Given the description of an element on the screen output the (x, y) to click on. 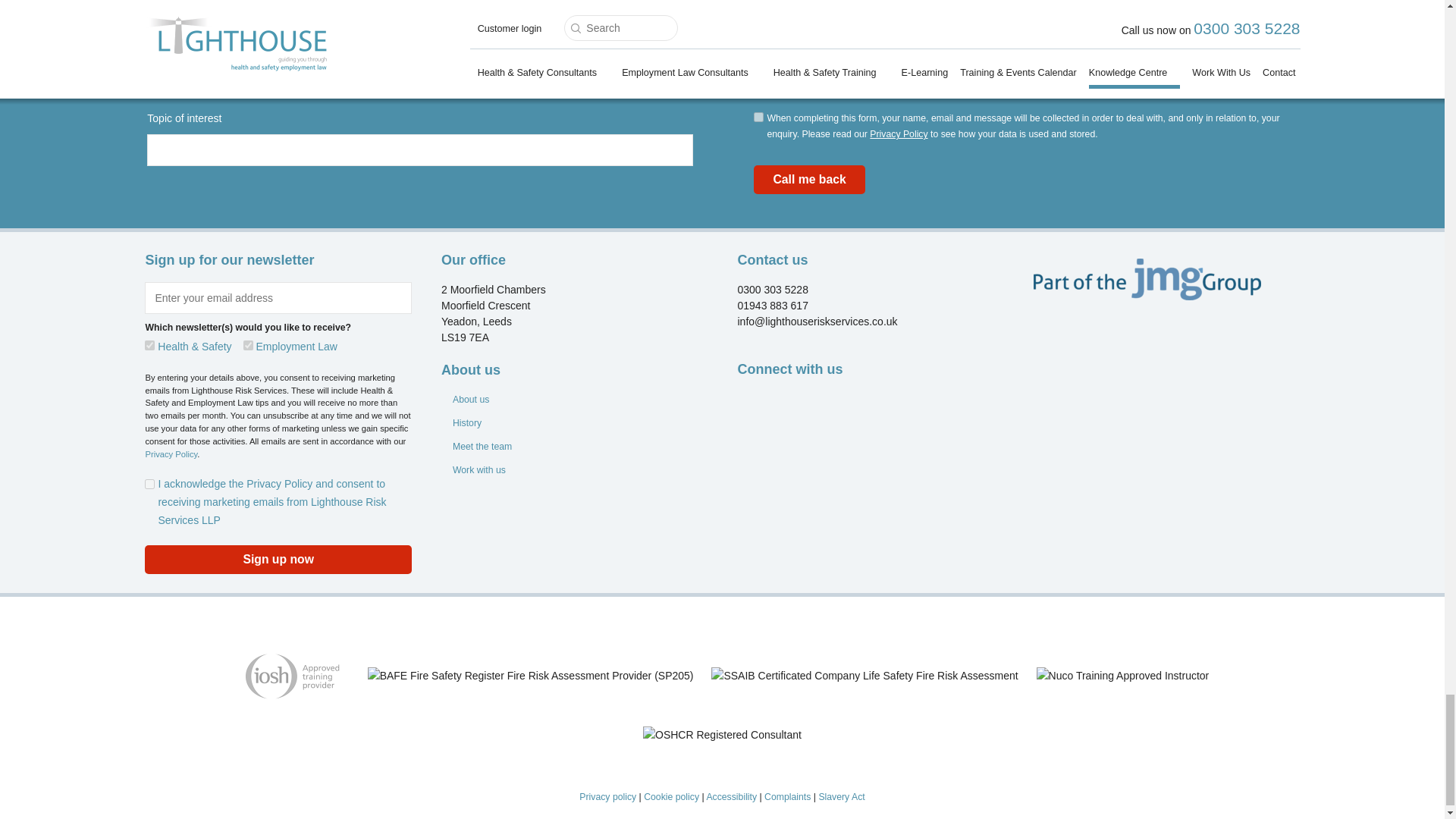
1 (758, 117)
Call me back (809, 179)
451461 (149, 345)
451462 (248, 345)
on (149, 483)
